Given the description of an element on the screen output the (x, y) to click on. 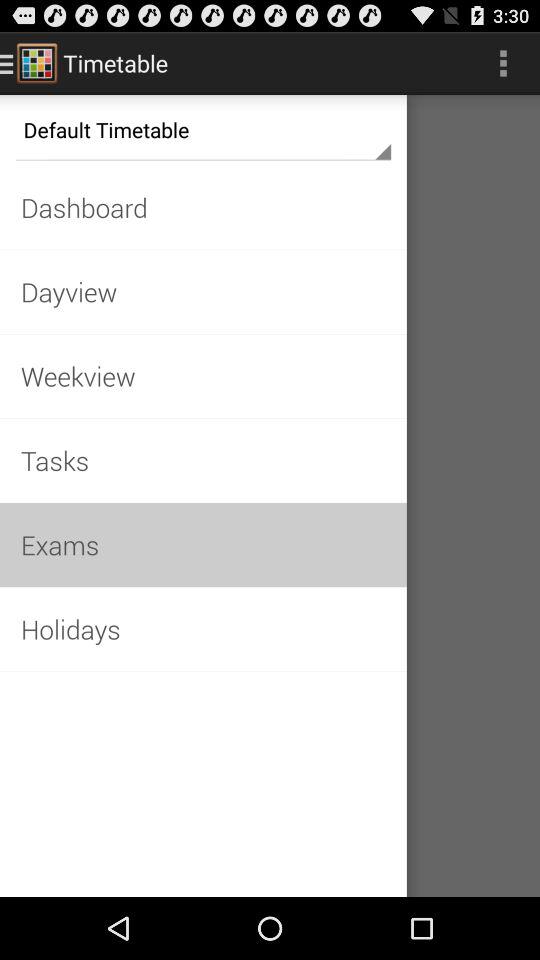
select the icon beside the timetable (36, 62)
choose the fist option below the timetable (202, 130)
click on three dot symbol (503, 63)
